Given the description of an element on the screen output the (x, y) to click on. 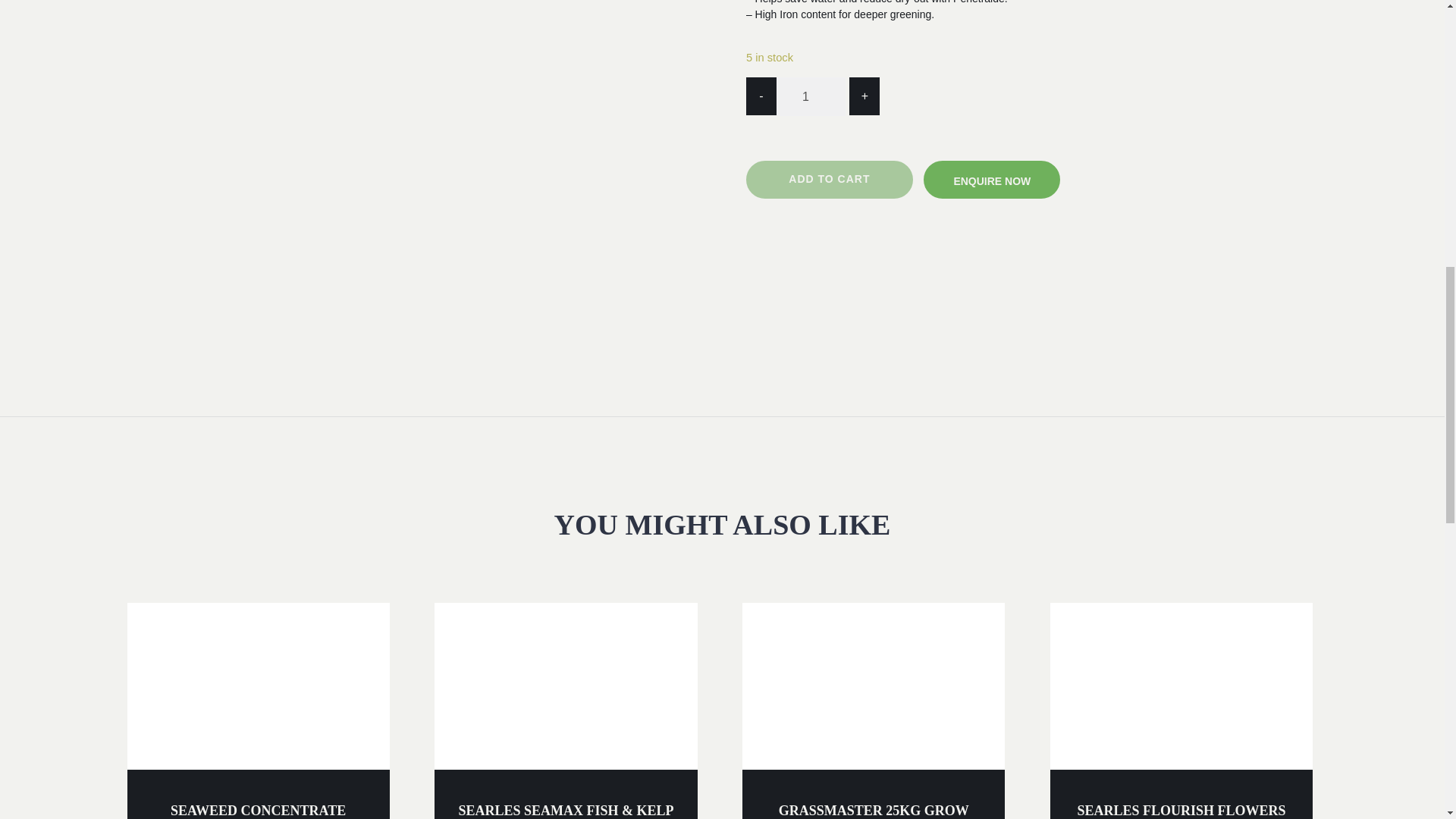
ADD TO CART (828, 179)
ENQUIRE NOW (991, 179)
1 (811, 96)
